Given the description of an element on the screen output the (x, y) to click on. 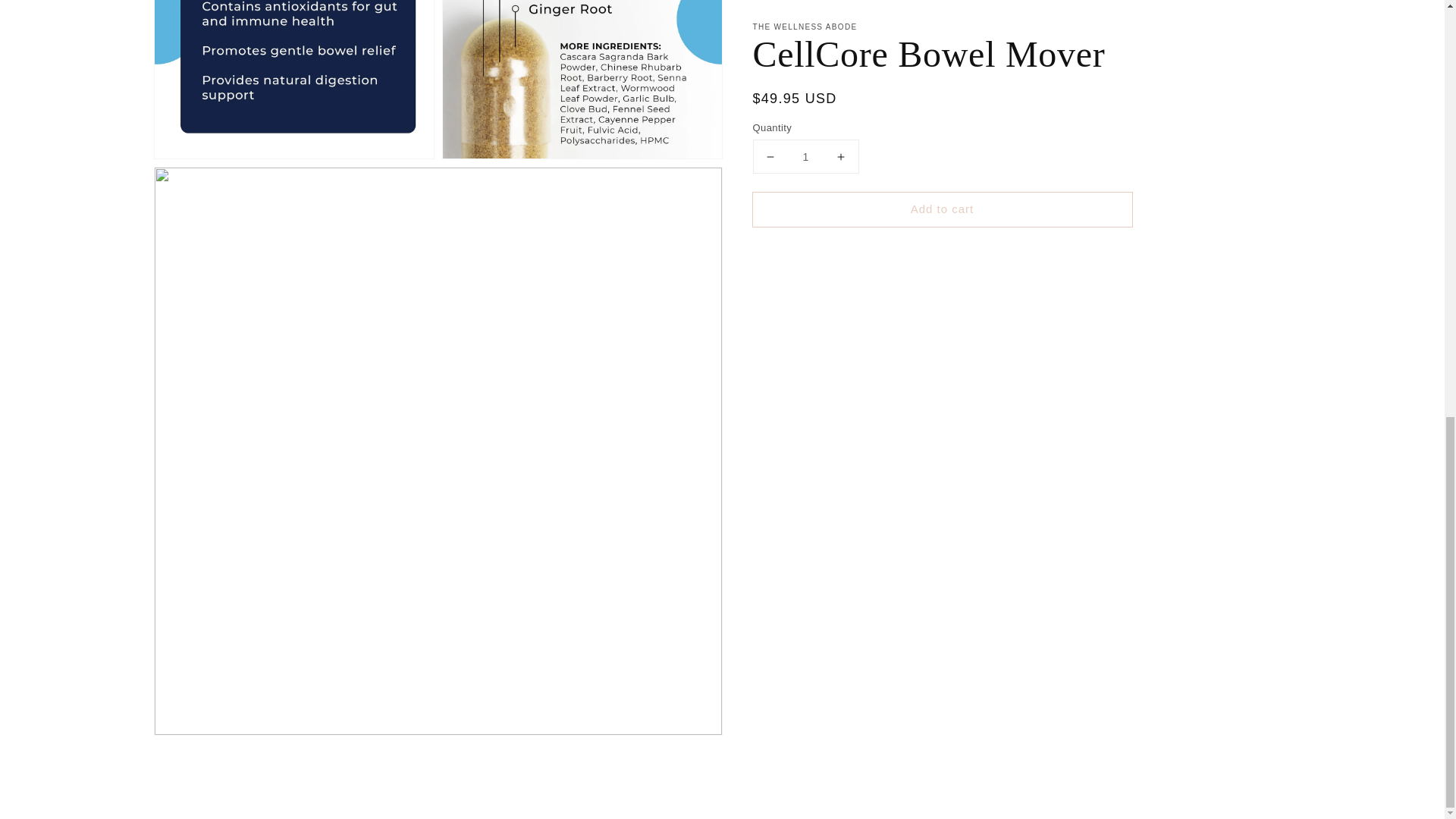
Open media 2 in gallery view (293, 79)
Open media 3 in gallery view (582, 79)
